Given the description of an element on the screen output the (x, y) to click on. 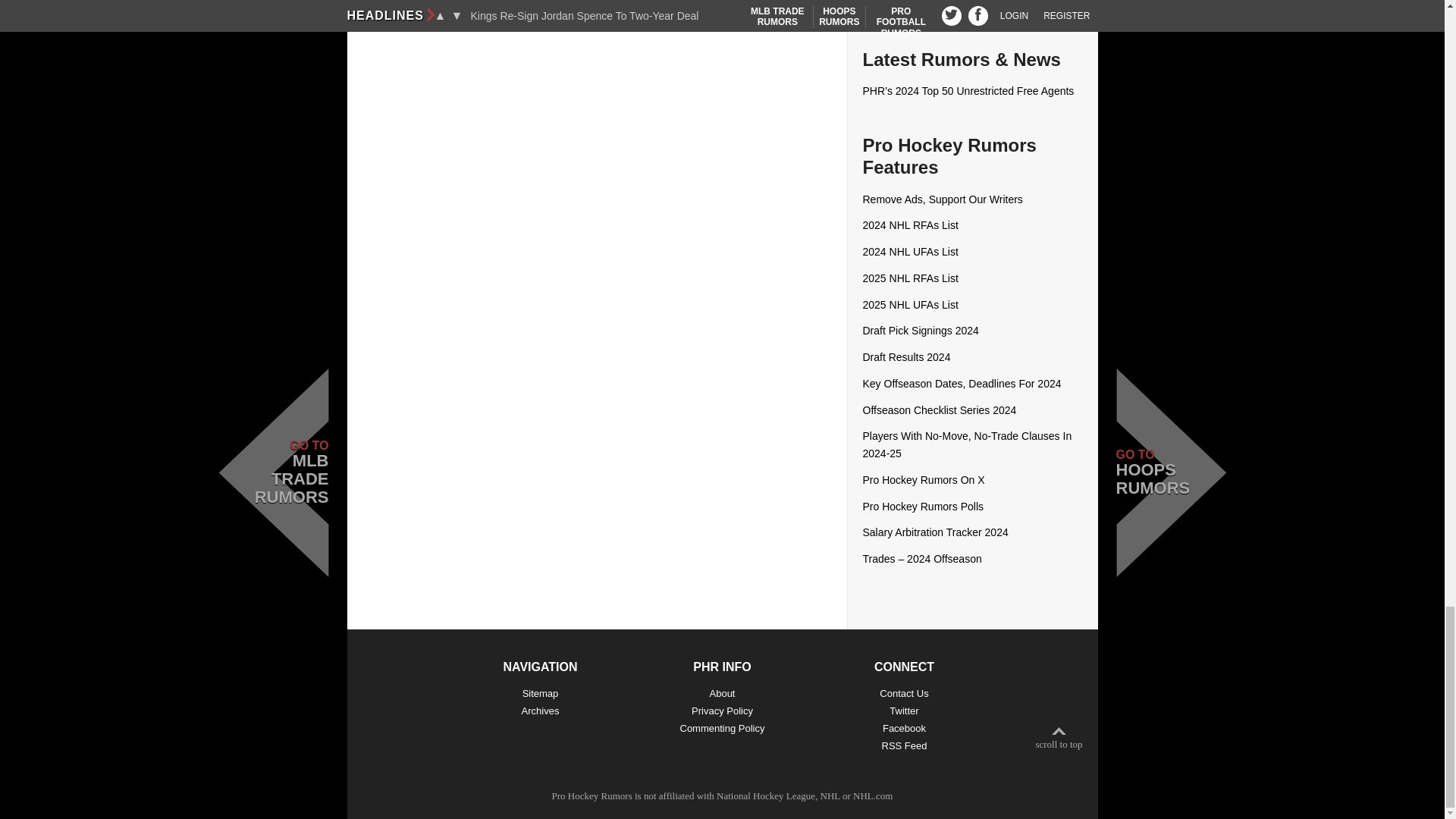
Pro Hockey Rumors (591, 795)
